Given the description of an element on the screen output the (x, y) to click on. 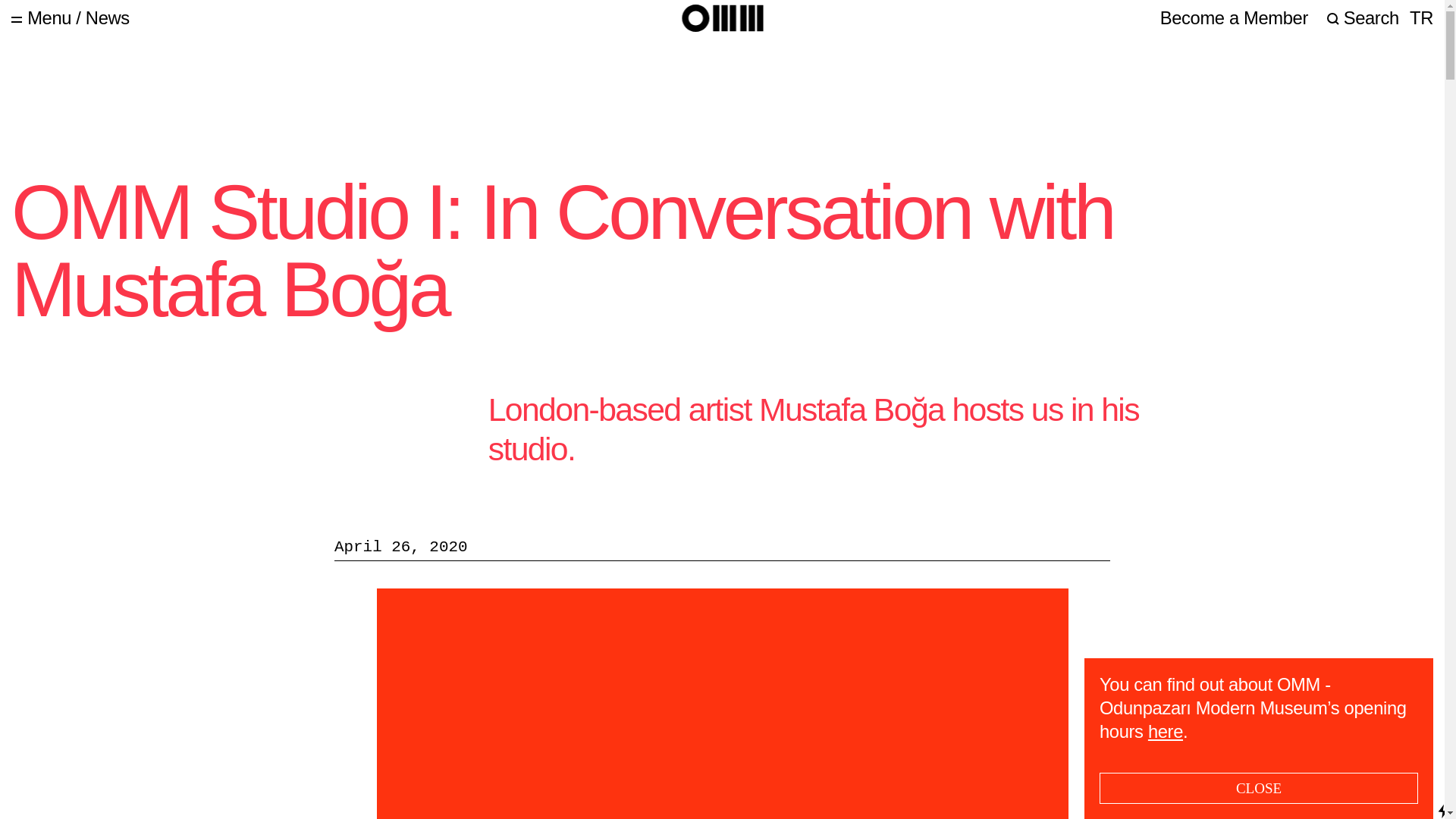
Search (1362, 17)
Become a Member (1233, 17)
News (107, 17)
TR (1420, 17)
Menu (41, 17)
